Given the description of an element on the screen output the (x, y) to click on. 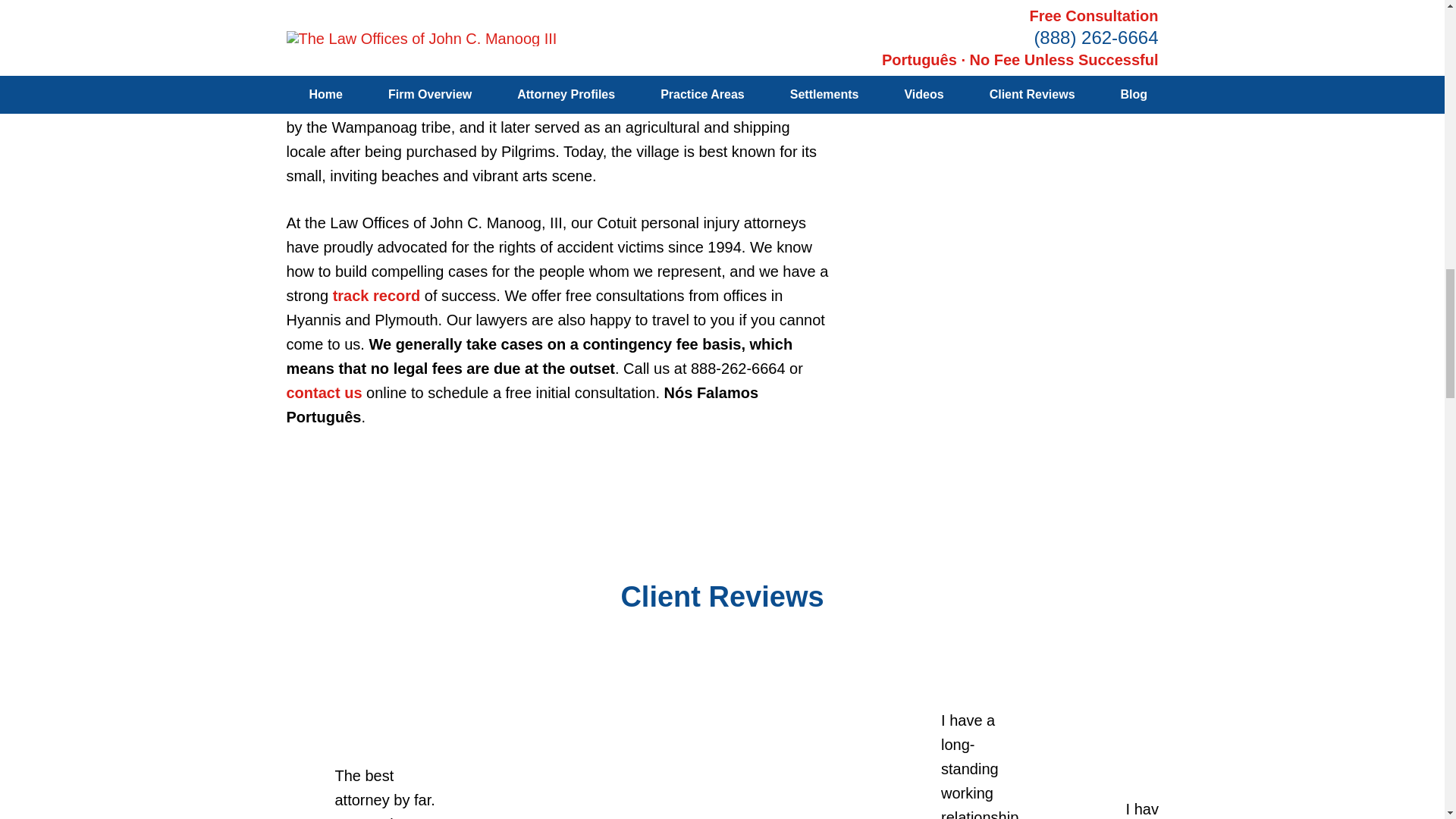
contact us (324, 392)
track record (376, 295)
Client Reviews (722, 596)
